Given the description of an element on the screen output the (x, y) to click on. 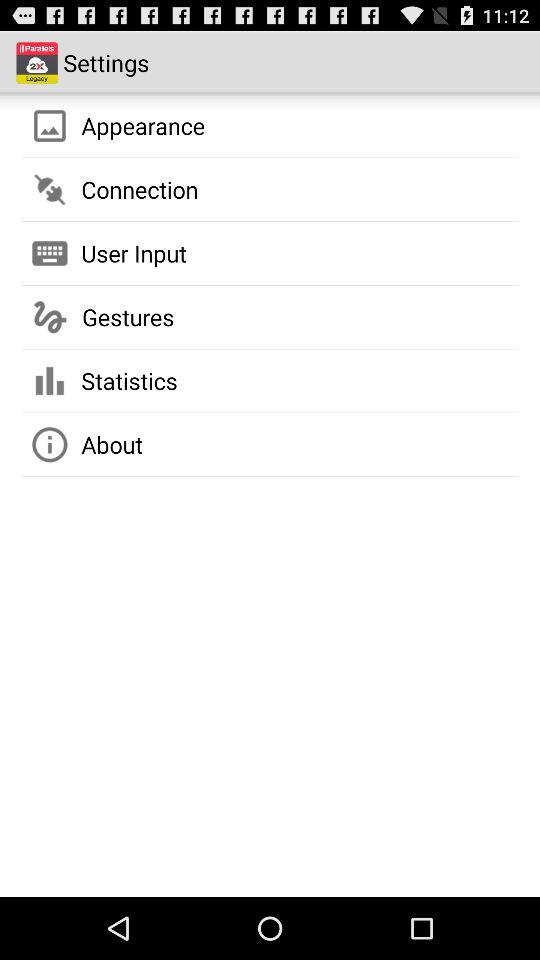
launch user input icon (133, 253)
